Given the description of an element on the screen output the (x, y) to click on. 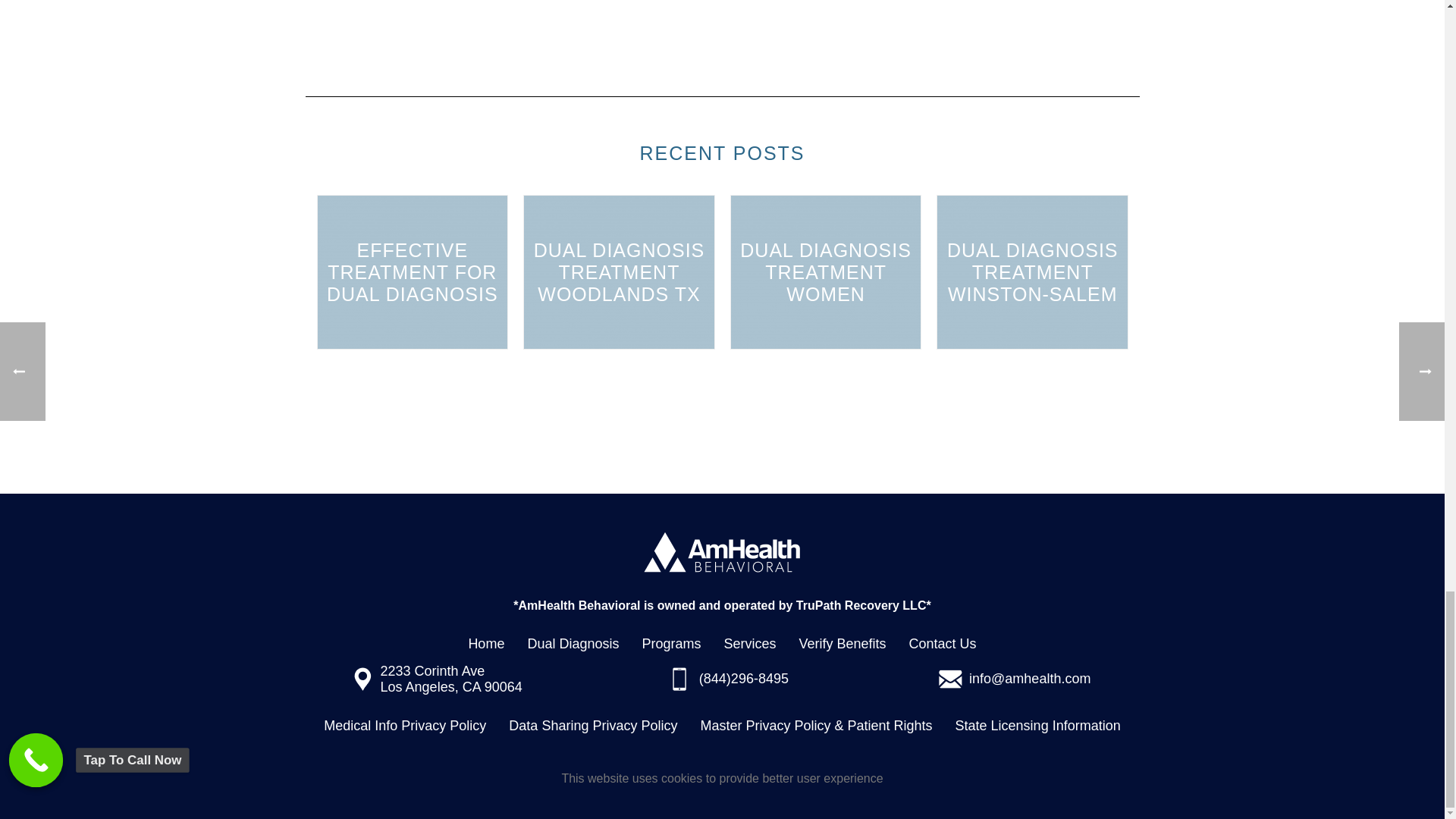
Programs (671, 643)
Verify Benefits (842, 643)
Effective Treatment For Dual Diagnosis (411, 271)
DUAL DIAGNOSIS TREATMENT WINSTON-SALEM (1031, 271)
DUAL DIAGNOSIS TREATMENT WOMEN (825, 271)
DUAL DIAGNOSIS TREATMENT WOODLANDS TX (619, 271)
EFFECTIVE TREATMENT FOR DUAL DIAGNOSIS (411, 271)
State Licensing Information (1038, 725)
Dual Diagnosis (572, 643)
Services (749, 643)
Home (485, 643)
Data Sharing Privacy Policy (592, 725)
Contact Us (942, 643)
Dual Diagnosis Treatment Woodlands Tx (619, 271)
